Given the description of an element on the screen output the (x, y) to click on. 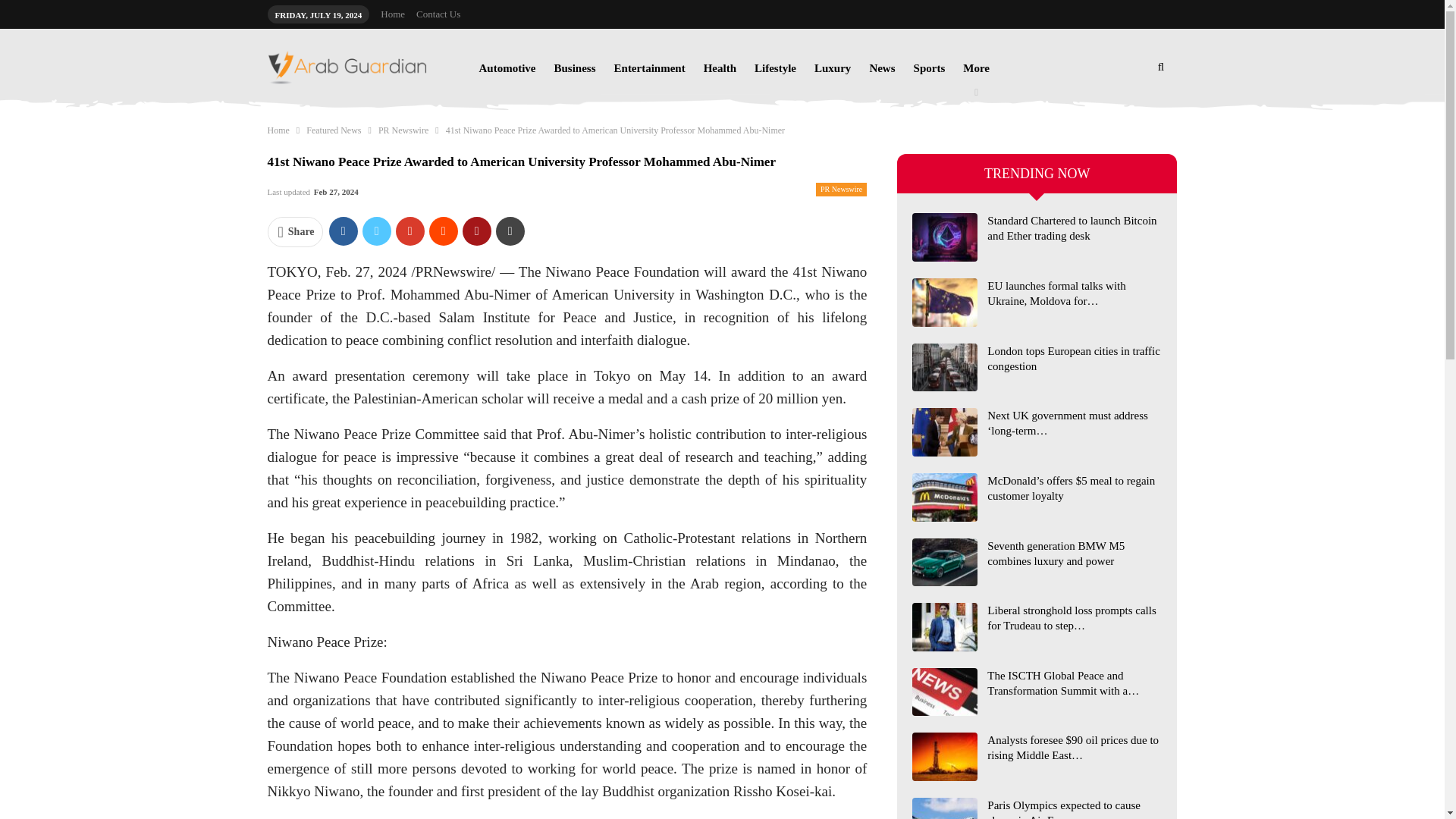
PR Newswire (840, 189)
Standard Chartered to launch Bitcoin and Ether trading desk (944, 236)
PR Newswire (403, 130)
Home (392, 13)
Home (277, 130)
Automotive (506, 68)
London tops European cities in traffic congestion (944, 367)
Contact Us (438, 13)
Featured News (333, 130)
Entertainment (649, 68)
